Given the description of an element on the screen output the (x, y) to click on. 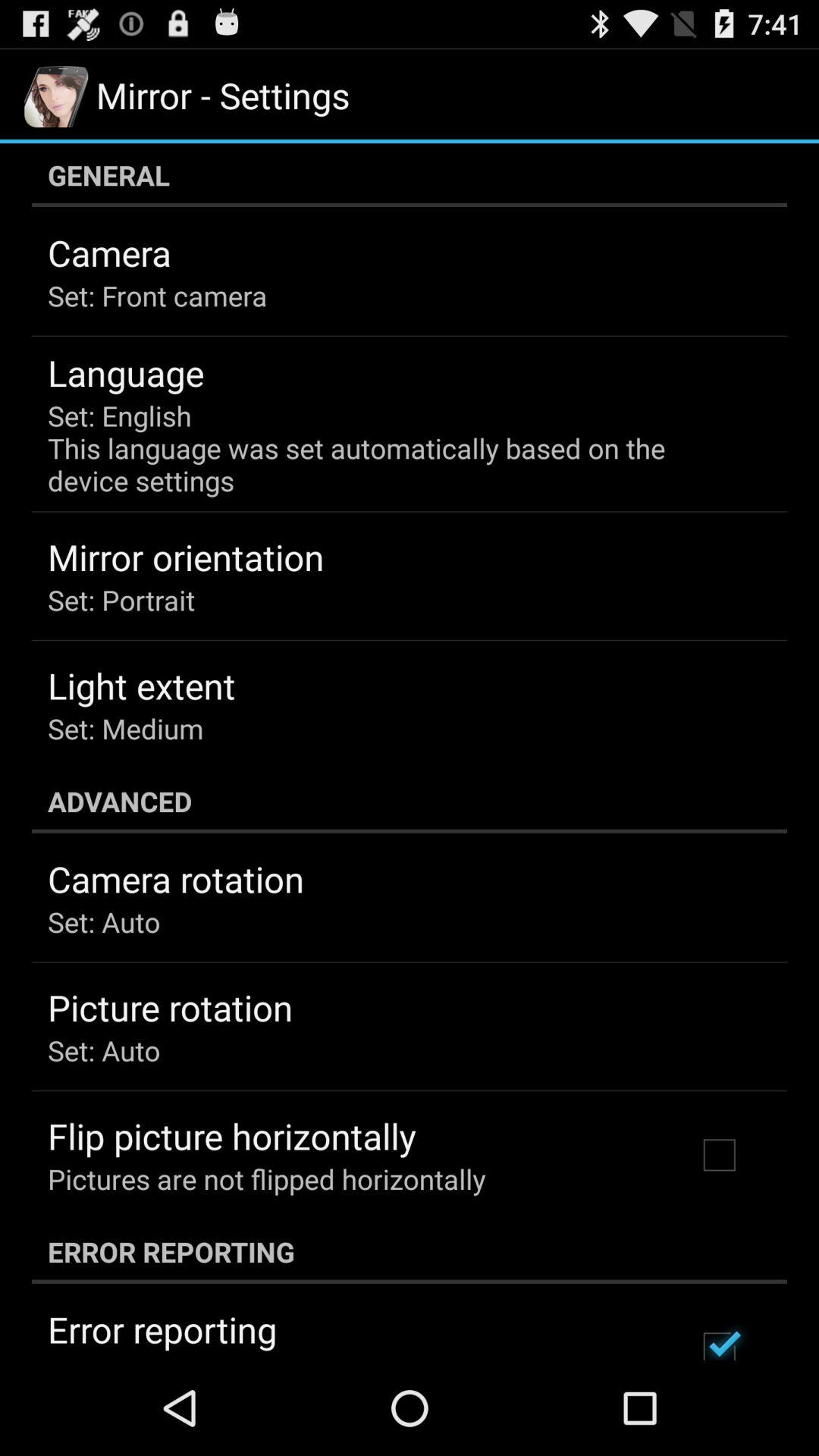
jump until mirror orientation app (185, 556)
